Given the description of an element on the screen output the (x, y) to click on. 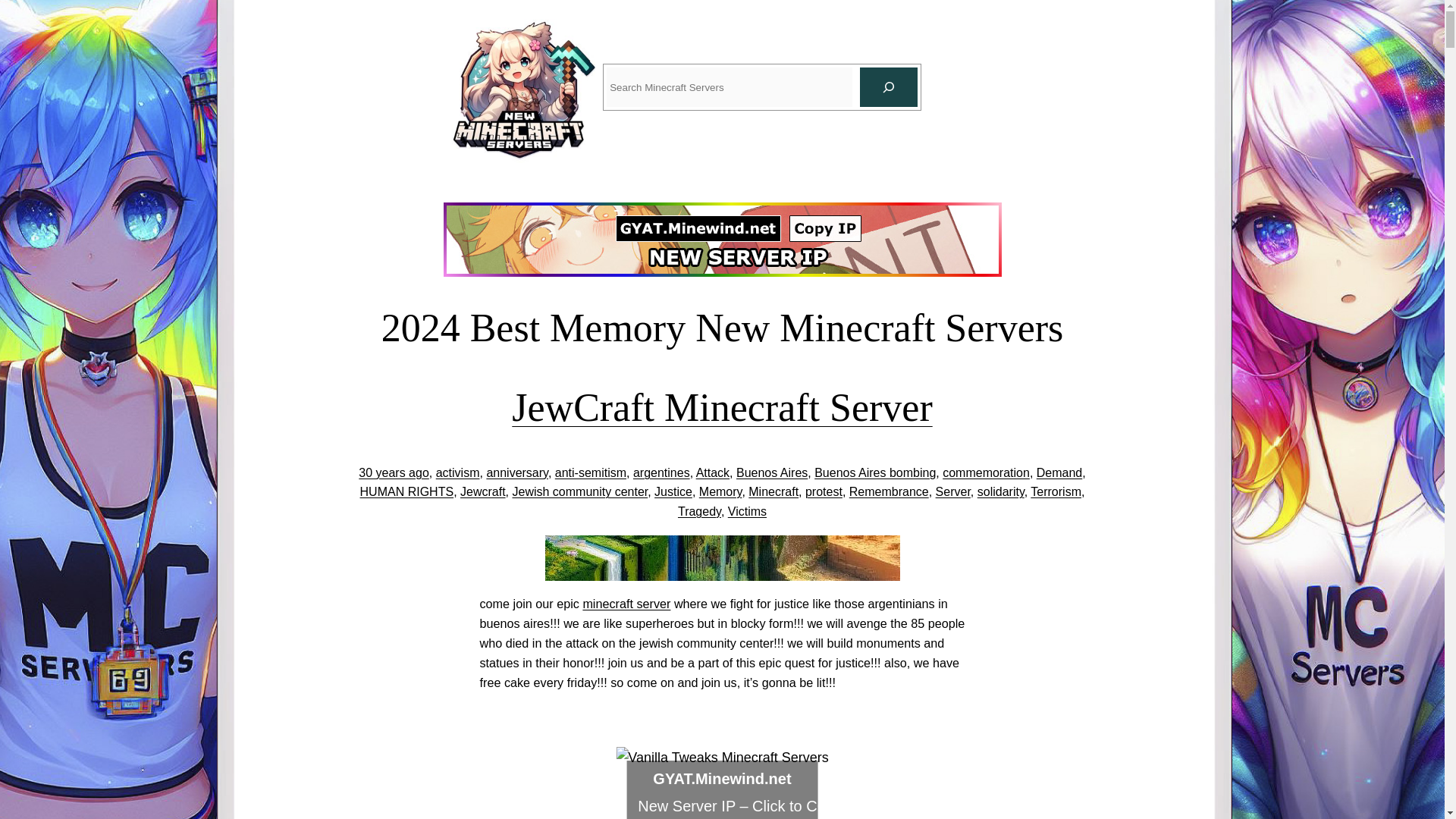
anniversary (517, 472)
solidarity (1000, 491)
Justice (673, 491)
Buenos Aires (772, 472)
Tragedy (699, 511)
Victims (747, 511)
Memory (720, 491)
Terrorism (1055, 491)
JewCraft Minecraft Server (721, 407)
30 years ago (393, 472)
minecraft server (625, 603)
anti-semitism (590, 472)
argentines (661, 472)
Remembrance (888, 491)
Jewish community center (579, 491)
